Given the description of an element on the screen output the (x, y) to click on. 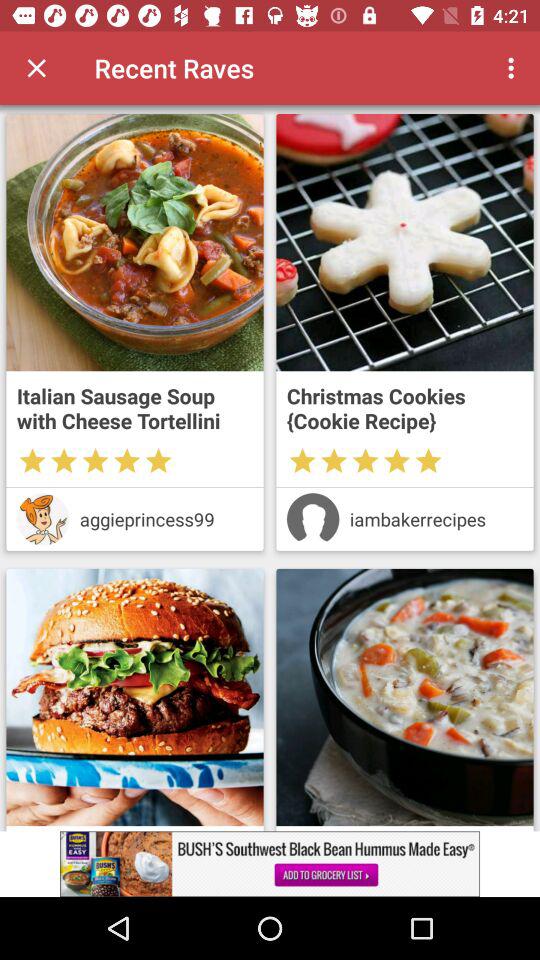
advertisement (134, 242)
